Given the description of an element on the screen output the (x, y) to click on. 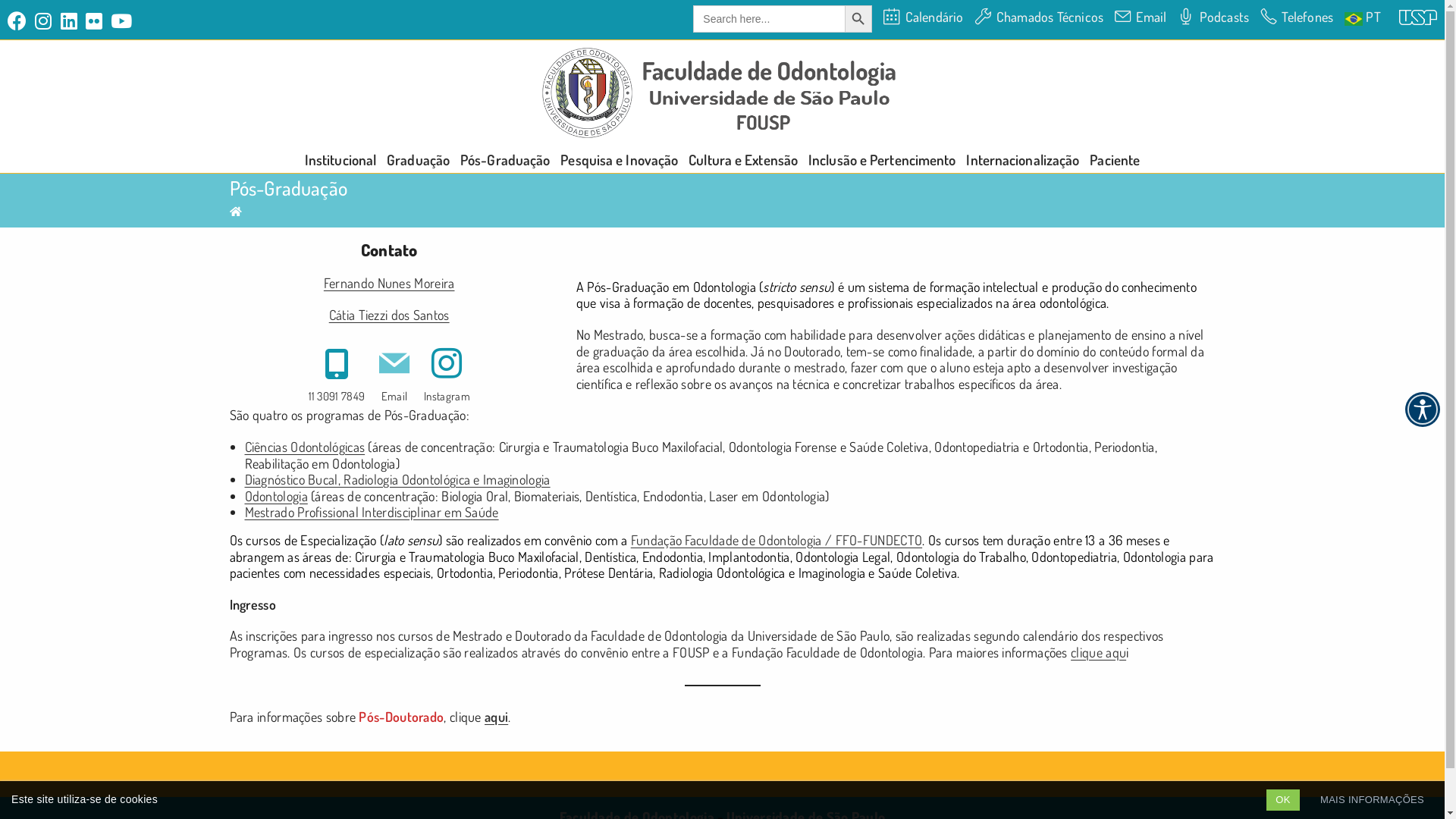
aqui Element type: text (496, 716)
clique aqu Element type: text (1098, 651)
11 3091 7849 Element type: text (336, 372)
Odontologia Element type: text (275, 495)
Paciente Element type: text (1114, 159)
SEARCH BUTTON Element type: text (858, 18)
PT Element type: text (1362, 16)
Instagram Element type: text (446, 372)
Fernando Nunes Moreira Element type: text (389, 282)
Podcasts Element type: text (1212, 16)
Email Element type: text (394, 372)
Telefones Element type: text (1296, 16)
Institucional Element type: text (340, 159)
Email Element type: text (1140, 16)
